Given the description of an element on the screen output the (x, y) to click on. 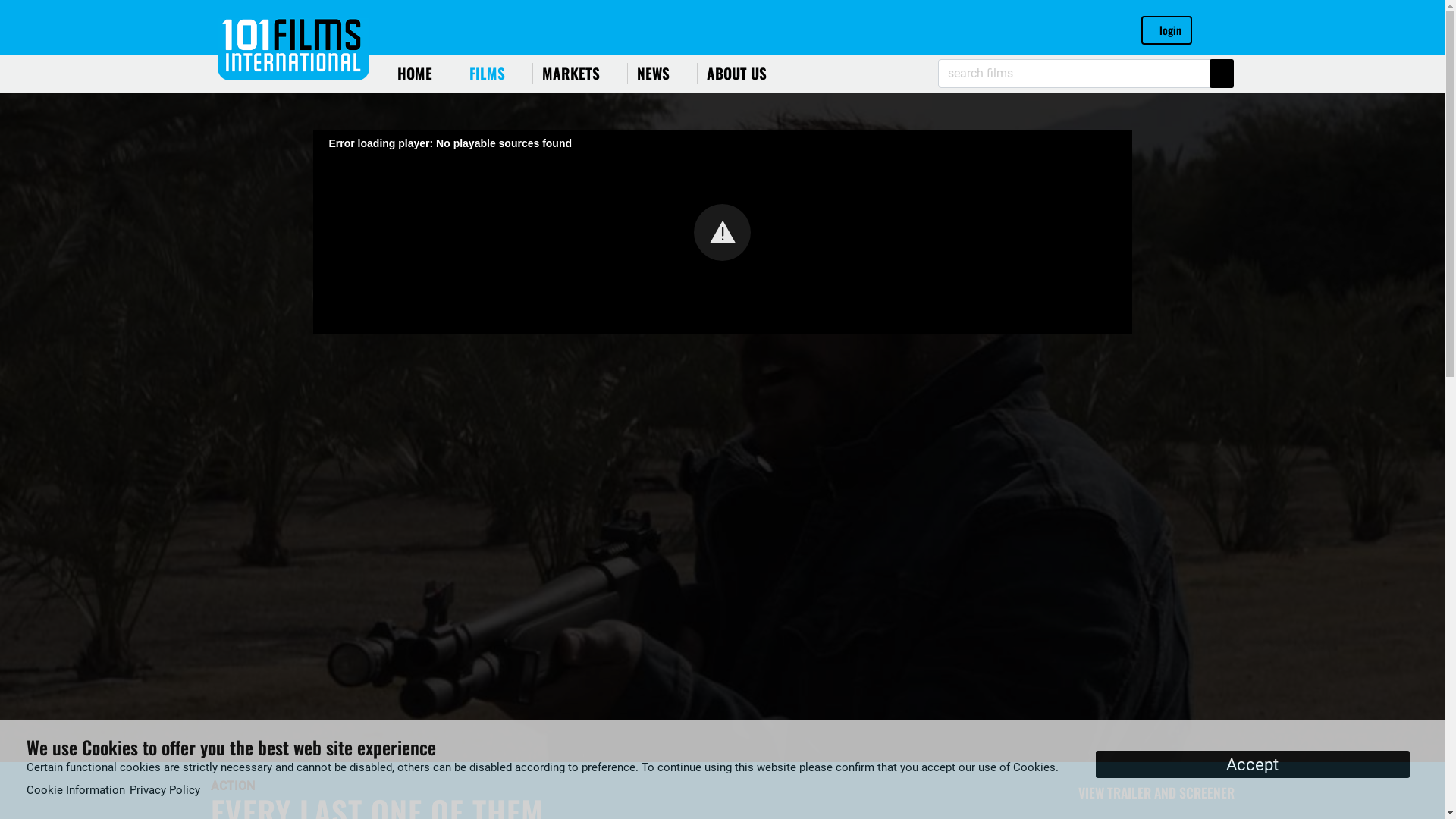
Cookie Information Element type: text (77, 789)
HOME Element type: text (413, 73)
login Element type: text (1166, 29)
ABOUT US Element type: text (735, 73)
VIEW TRAILER AND SCREENER Element type: text (1149, 792)
NEWS Element type: text (651, 73)
Privacy Policy Element type: text (166, 789)
MARKETS Element type: text (570, 73)
Accept Element type: text (1252, 764)
ACTION Element type: text (232, 785)
FILMS Element type: text (486, 73)
